Given the description of an element on the screen output the (x, y) to click on. 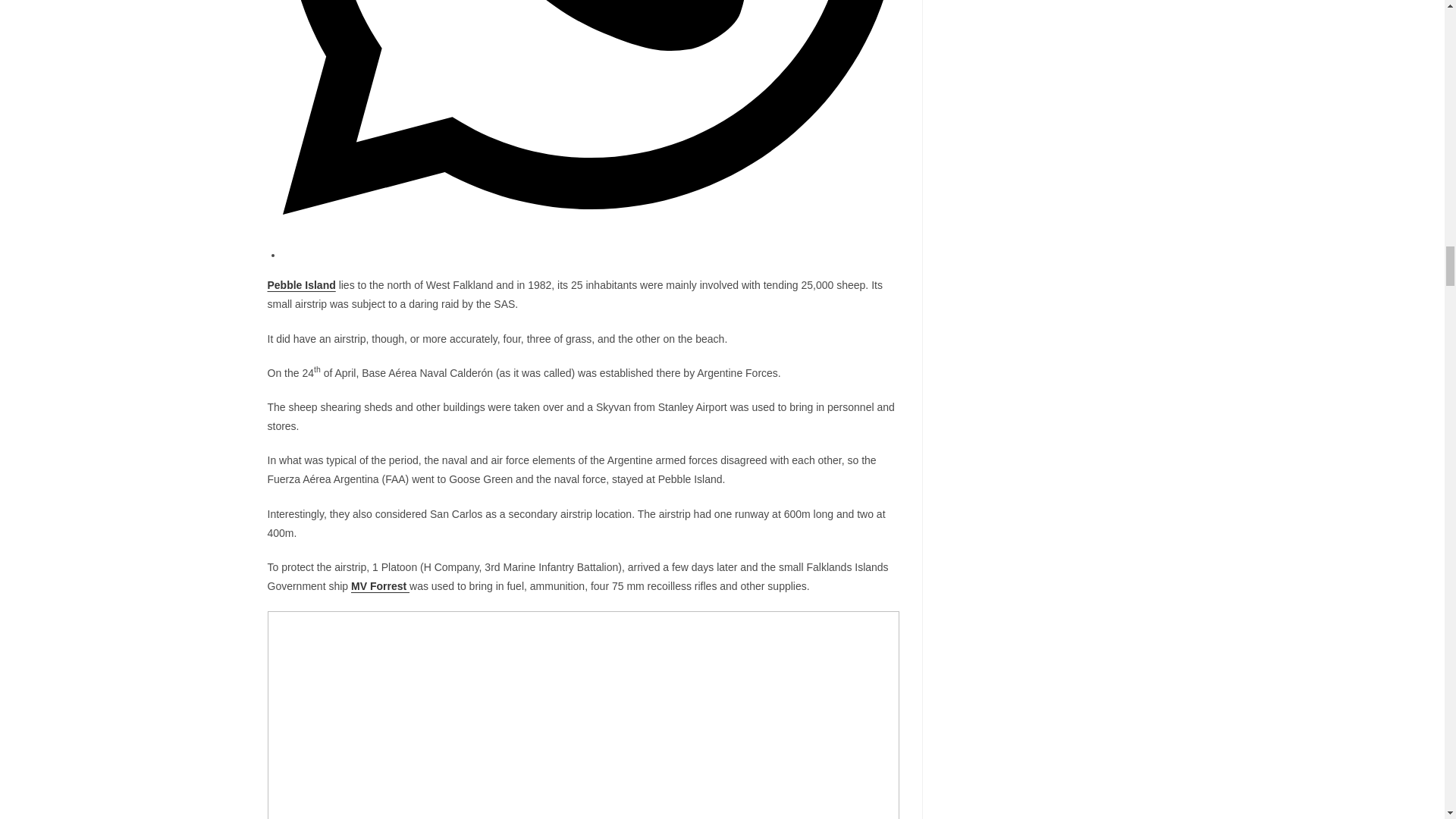
MV Forrest (379, 585)
Pebble Island (300, 285)
Opens in a new window (590, 254)
